Given the description of an element on the screen output the (x, y) to click on. 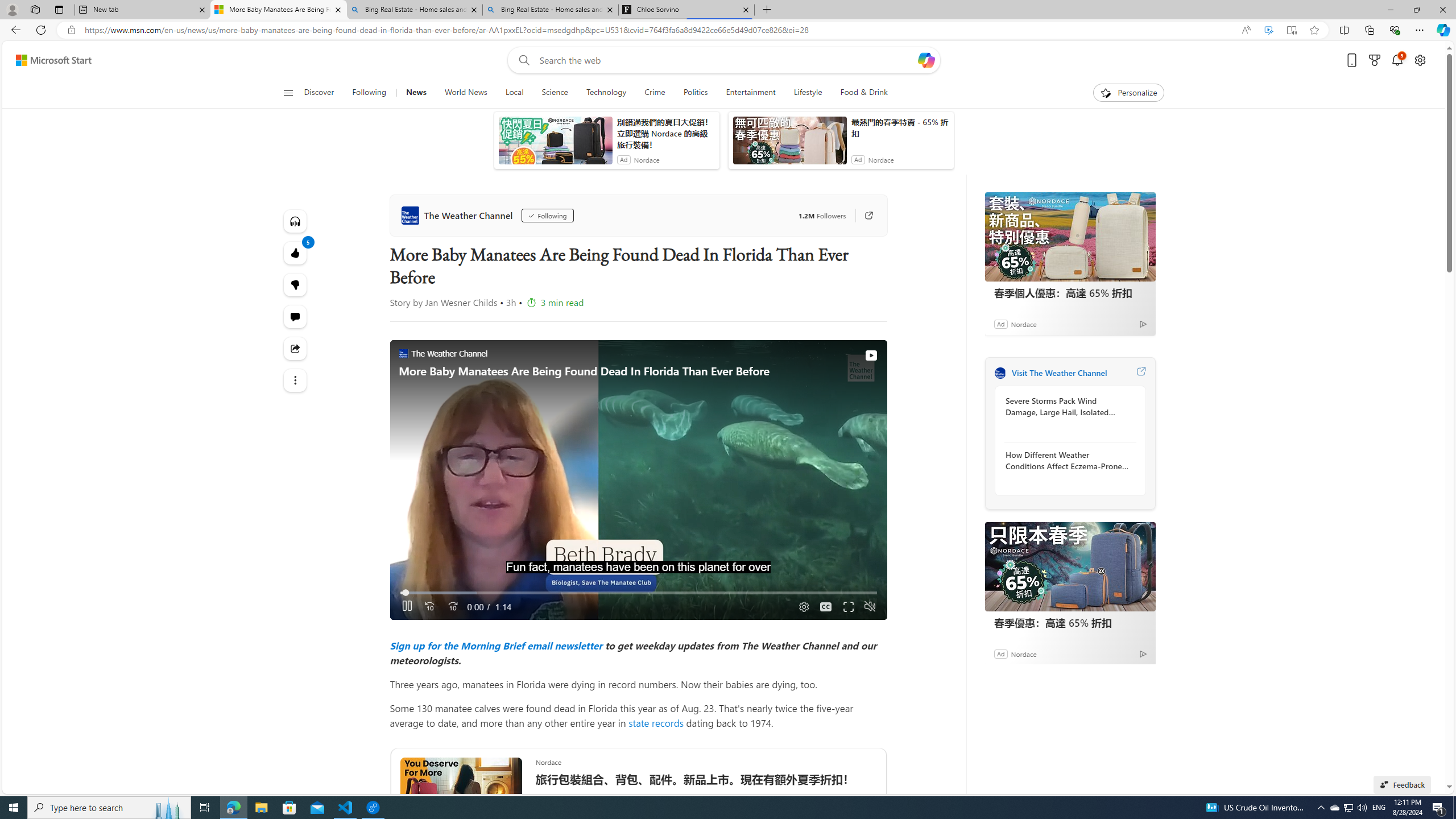
Skip to footer (46, 59)
Pause (406, 606)
